Given the description of an element on the screen output the (x, y) to click on. 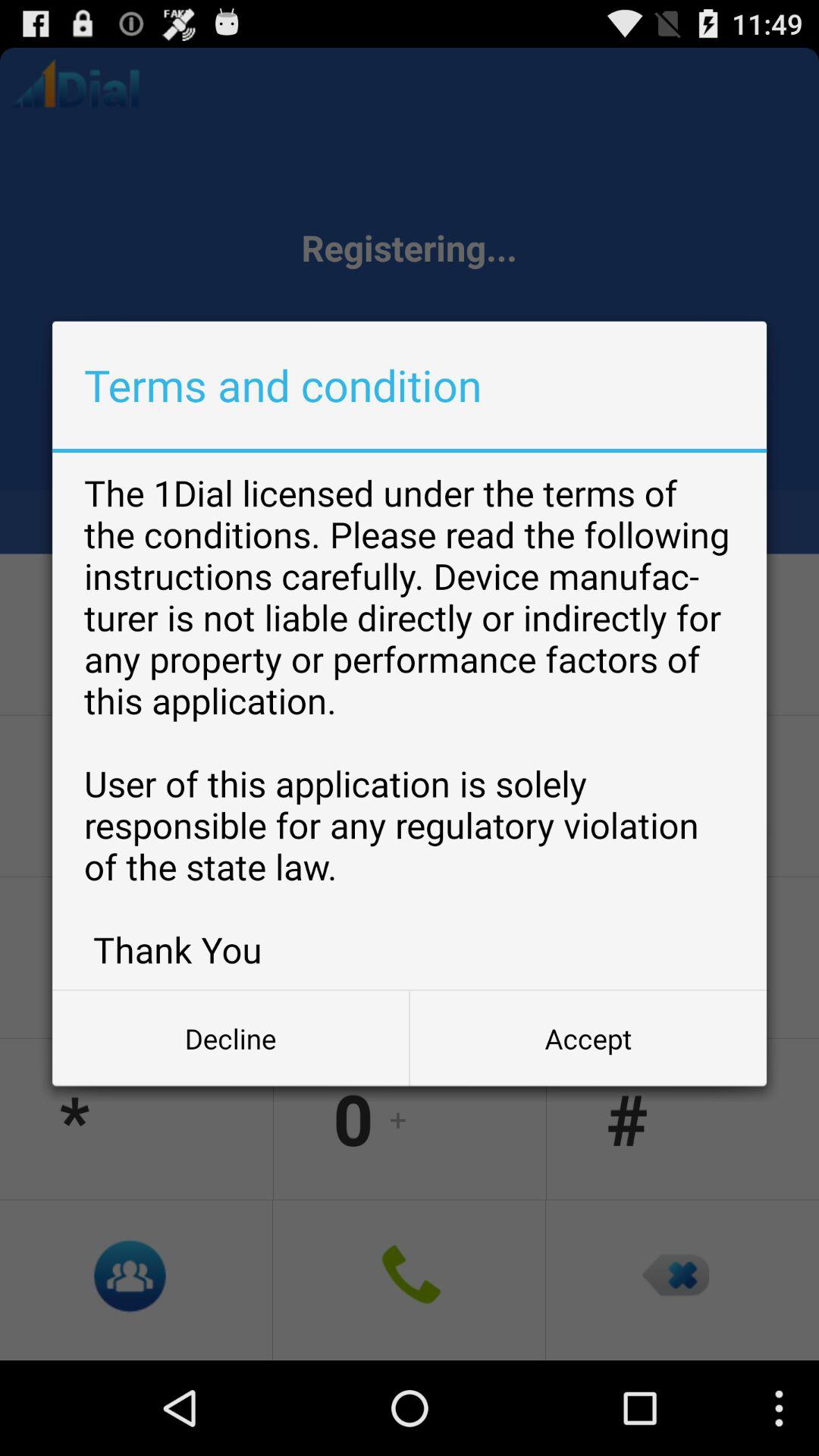
open the icon next to the decline button (588, 1038)
